Given the description of an element on the screen output the (x, y) to click on. 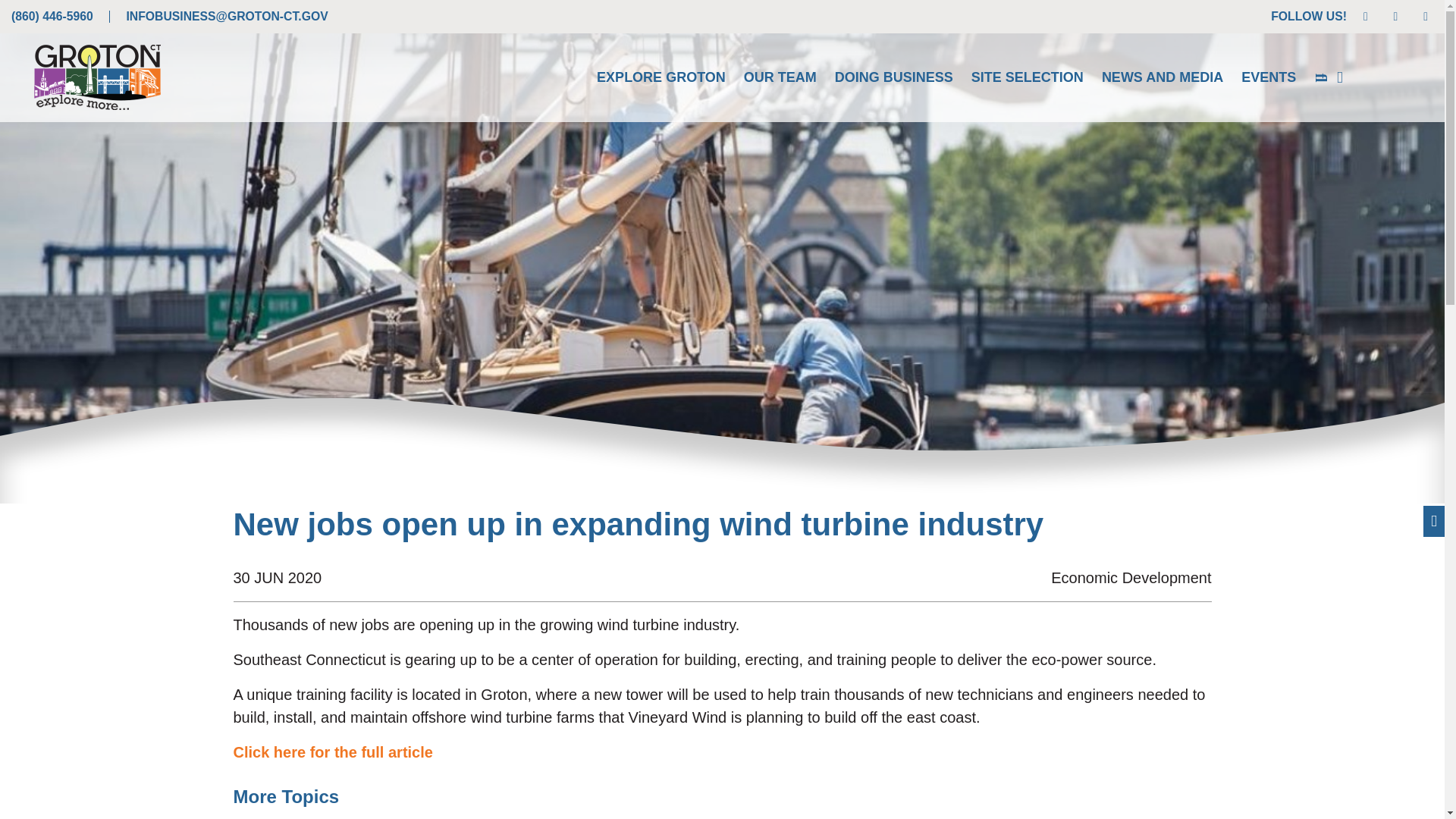
SITE SELECTION (1027, 77)
DOING BUSINESS (893, 77)
OUR TEAM (780, 77)
EXPLORE GROTON (661, 77)
Linkedin (1365, 15)
Twitter (1396, 15)
Facebook (1425, 15)
